Given the description of an element on the screen output the (x, y) to click on. 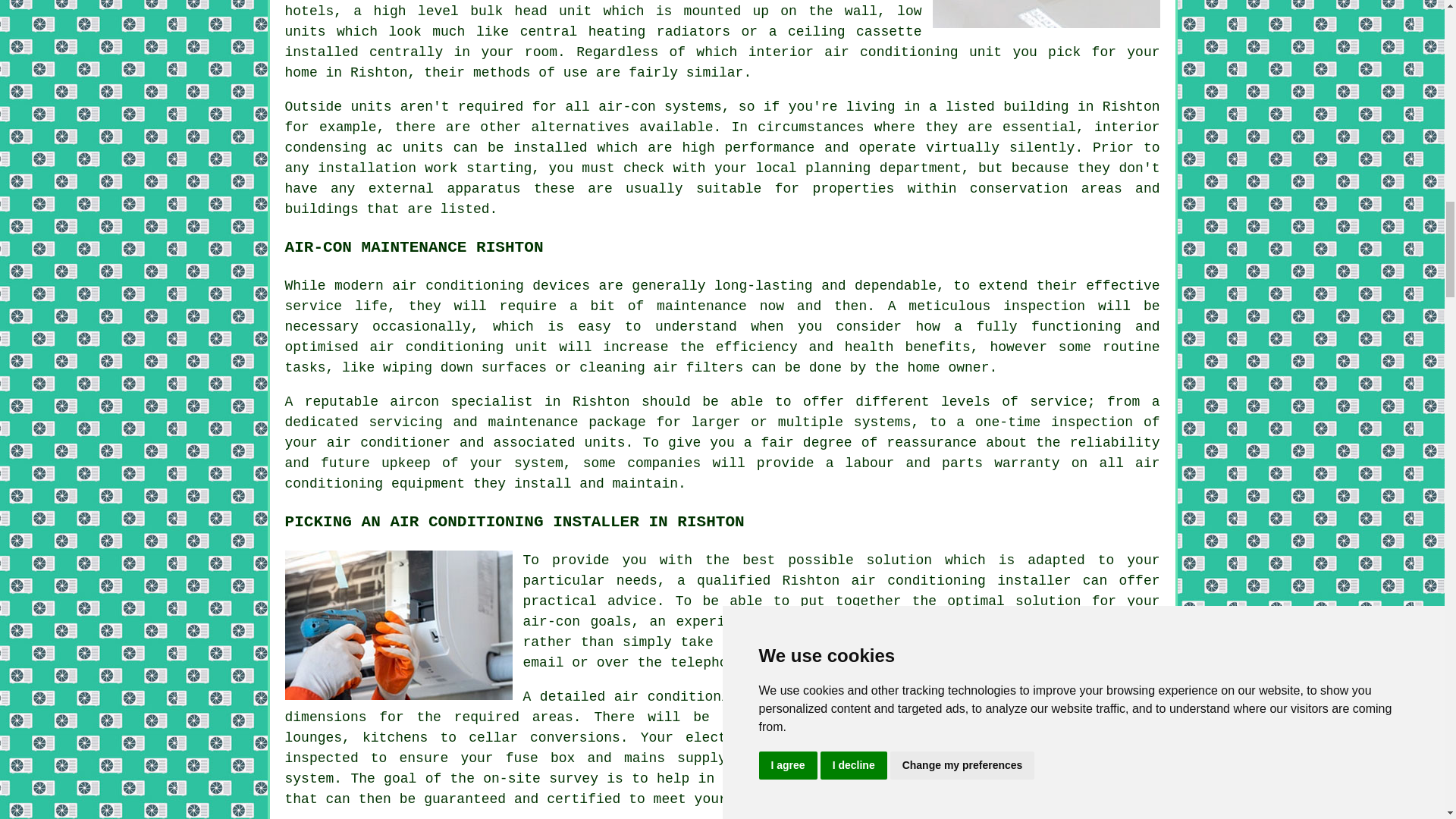
maintenance (701, 305)
levels of service (1013, 401)
installation (366, 168)
Air Conditioning Near Rishton Lancashire (1046, 13)
air conditioning (918, 580)
survey (1126, 621)
